Given the description of an element on the screen output the (x, y) to click on. 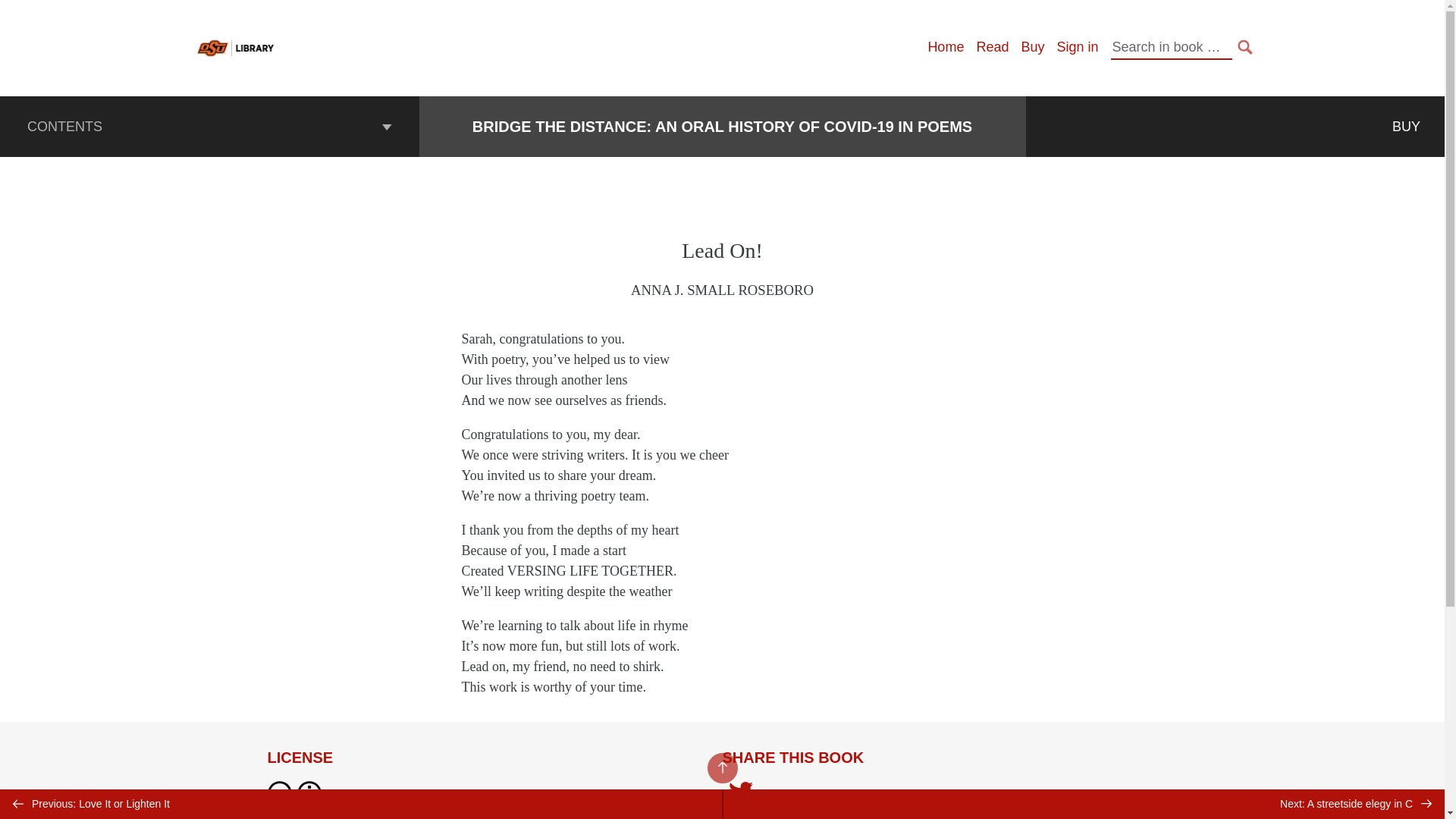
Read (992, 46)
BACK TO TOP (721, 767)
Share on Twitter (740, 795)
CONTENTS (209, 126)
BUY (1406, 127)
Sign in (1077, 46)
Share on Twitter (740, 793)
Previous: Love It or Lighten It (361, 804)
Buy (1031, 46)
BRIDGE THE DISTANCE: AN ORAL HISTORY OF COVID-19 IN POEMS (721, 126)
